Given the description of an element on the screen output the (x, y) to click on. 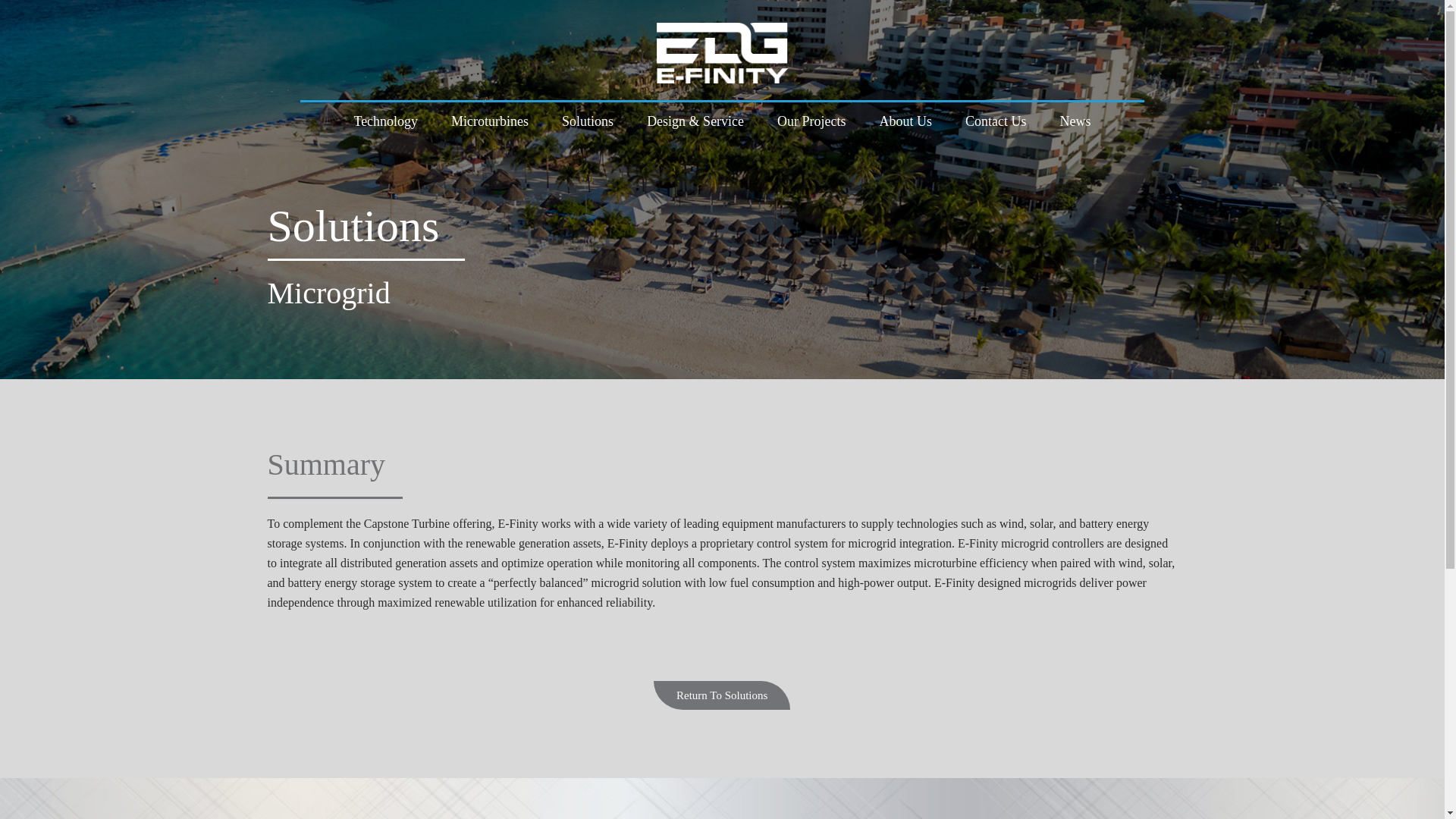
Contact Us (996, 121)
Solutions (587, 121)
Our Projects (810, 121)
About Us (905, 121)
Microturbines (489, 121)
Technology (384, 121)
News (1075, 121)
